Given the description of an element on the screen output the (x, y) to click on. 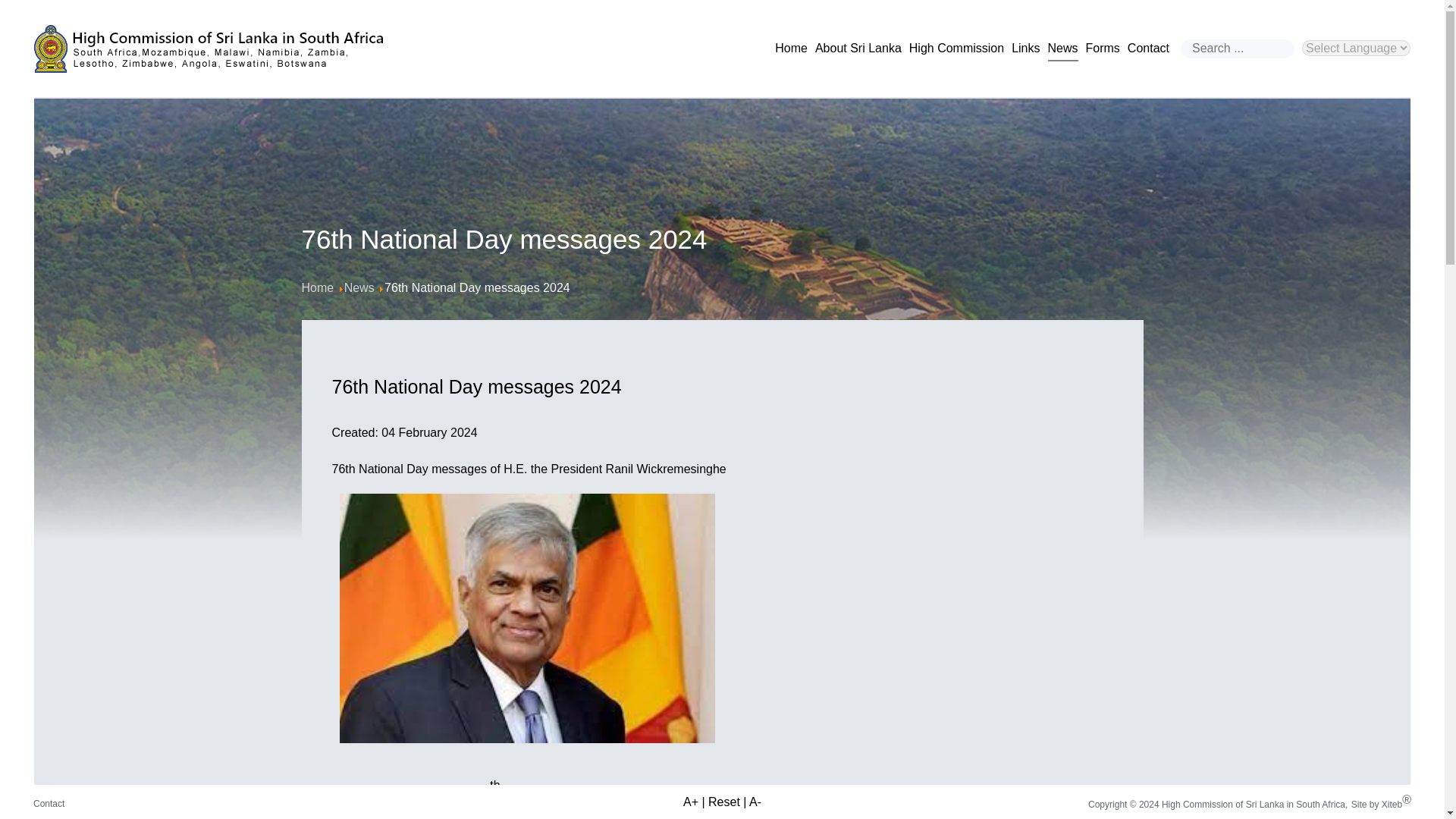
News (358, 286)
About Sri Lanka (858, 48)
A- (755, 800)
Home (317, 286)
Home (791, 48)
Links (1025, 48)
High Commission (956, 48)
Forms (1102, 48)
Reset (723, 800)
News (1063, 48)
Contact (1147, 48)
Contact (48, 803)
